Given the description of an element on the screen output the (x, y) to click on. 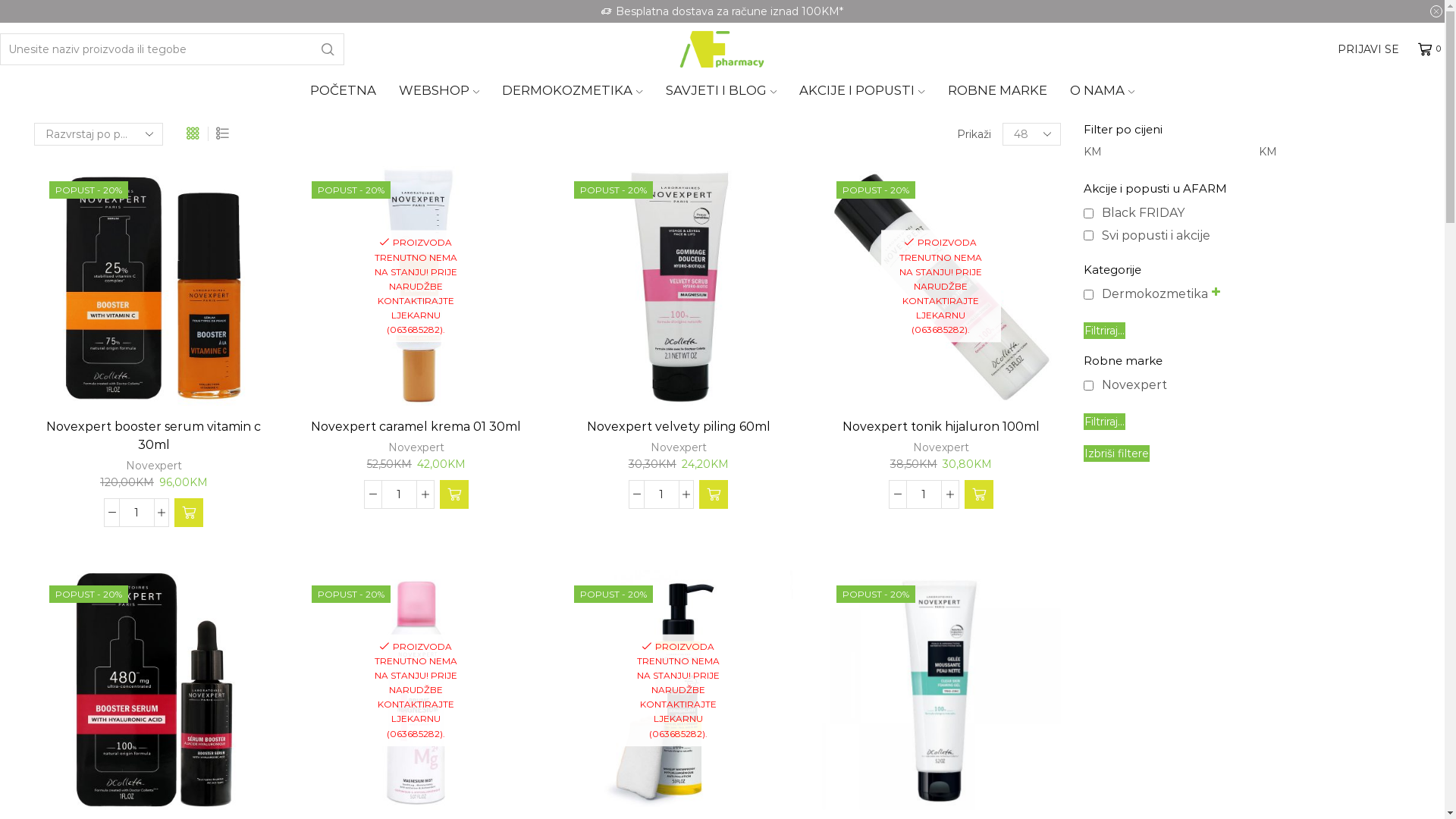
Novexpert booster serum vitamin c 30ml Element type: text (153, 435)
Filtriraj... Element type: text (1104, 330)
Novexpert Element type: text (153, 465)
PRIJAVI SE Element type: text (1368, 49)
DERMOKOZMETIKA Element type: text (572, 94)
WEBSHOP Element type: text (438, 94)
ROBNE MARKE Element type: text (997, 94)
Novexpert Element type: text (941, 447)
Novexpert Element type: text (416, 447)
Novexpert Element type: text (678, 447)
Novexpert caramel krema 01 30ml Element type: text (416, 426)
O NAMA Element type: text (1102, 94)
0 Element type: text (1431, 48)
SAVJETI I BLOG Element type: text (720, 94)
AKCIJE I POPUSTI Element type: text (861, 94)
Filtriraj... Element type: text (1104, 420)
Novexpert velvety piling 60ml Element type: text (678, 426)
Novexpert tonik hijaluron 100ml Element type: text (940, 426)
